Given the description of an element on the screen output the (x, y) to click on. 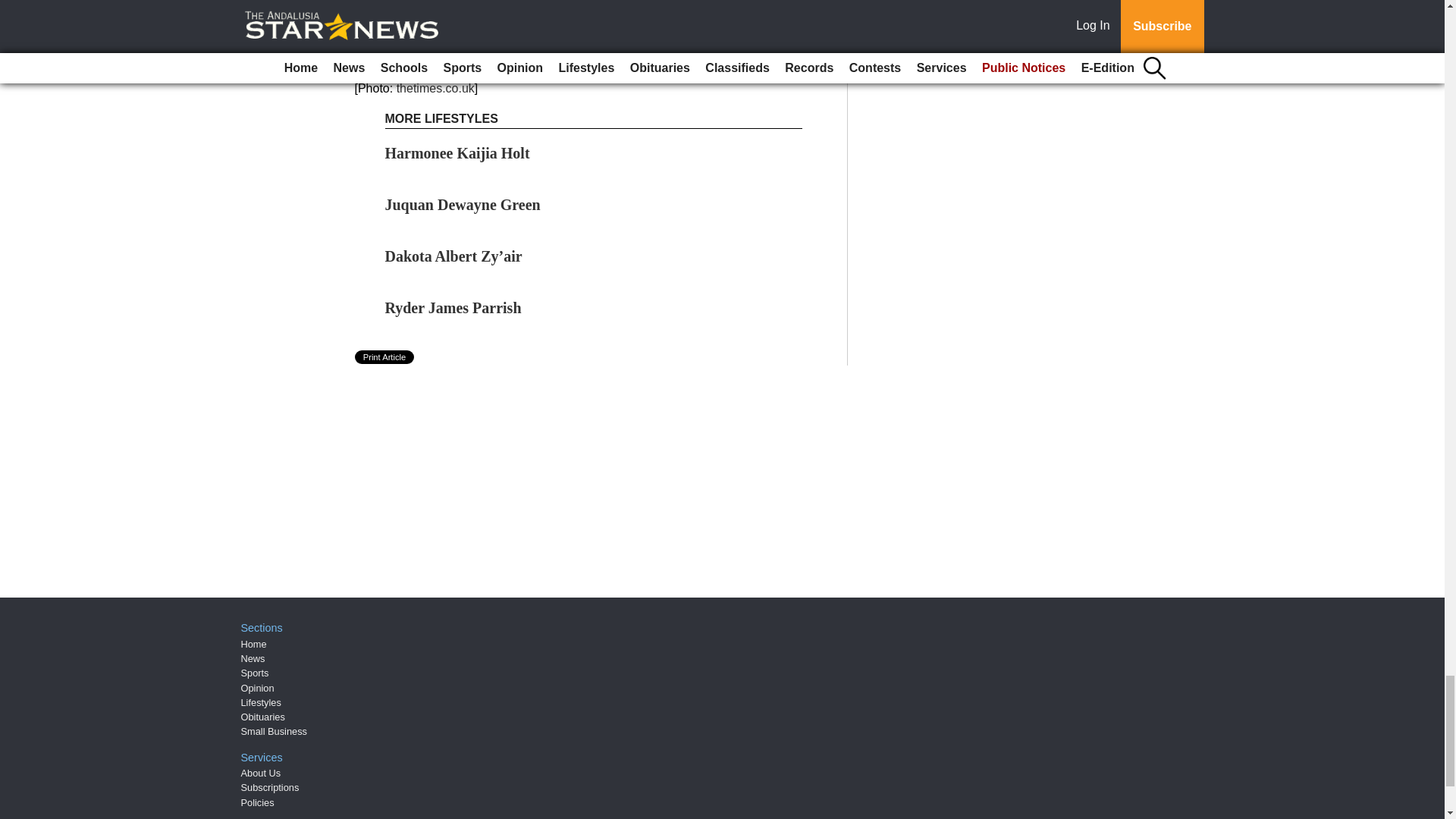
Ryder James Parrish (453, 307)
Small Business (274, 731)
Harmonee Kaijia Holt (457, 152)
Opinion (258, 687)
Juquan Dewayne Green (462, 204)
thetimes.co.uk (435, 88)
Home (253, 644)
Juquan Dewayne Green (462, 204)
Lifestyles (261, 702)
Ryder James Parrish (453, 307)
Obituaries (263, 716)
Print Article (384, 356)
Subscriptions (270, 787)
About Us (261, 772)
News (252, 658)
